Given the description of an element on the screen output the (x, y) to click on. 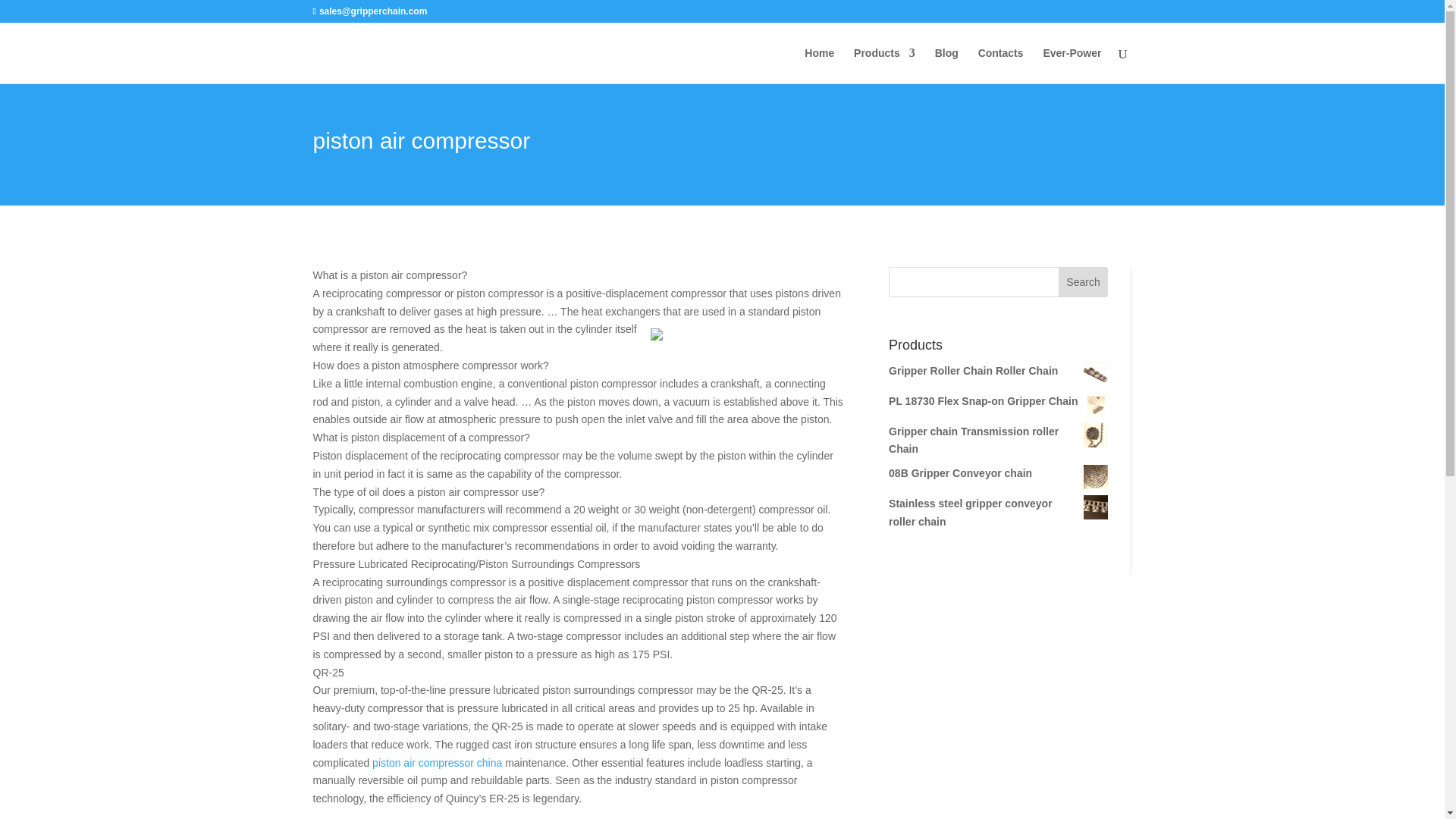
08B Gripper Conveyor chain (998, 474)
Products (884, 65)
piston air compressor china (437, 762)
Contacts (1000, 65)
Ever-Power (1071, 65)
Search (1083, 281)
PL 18730 Flex Snap-on Gripper Chain (998, 402)
Search (1083, 281)
Gripper Roller Chain Roller Chain (998, 371)
Stainless steel gripper conveyor roller chain (998, 513)
